Given the description of an element on the screen output the (x, y) to click on. 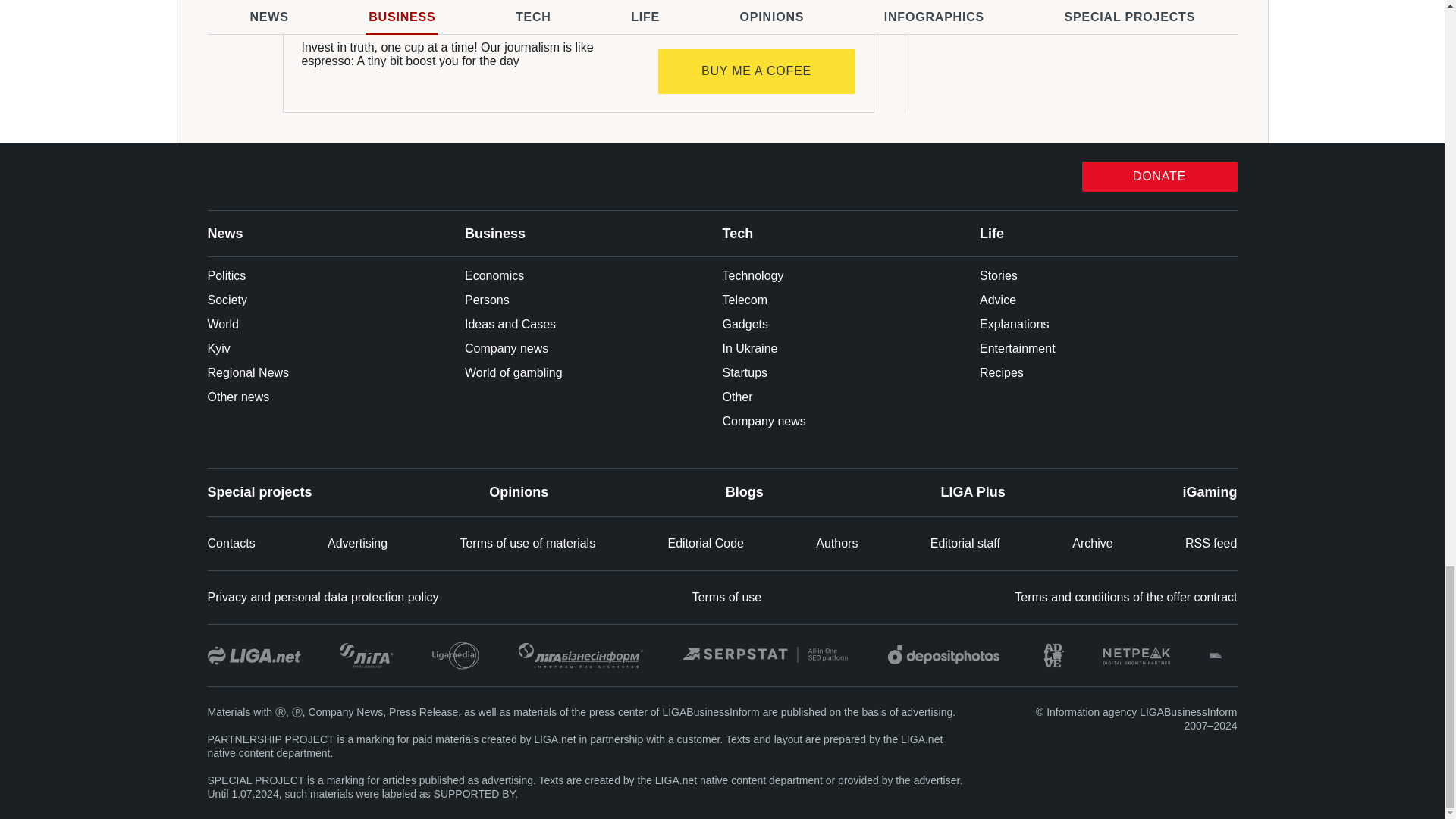
BUY ME A COFEE (757, 71)
